Given the description of an element on the screen output the (x, y) to click on. 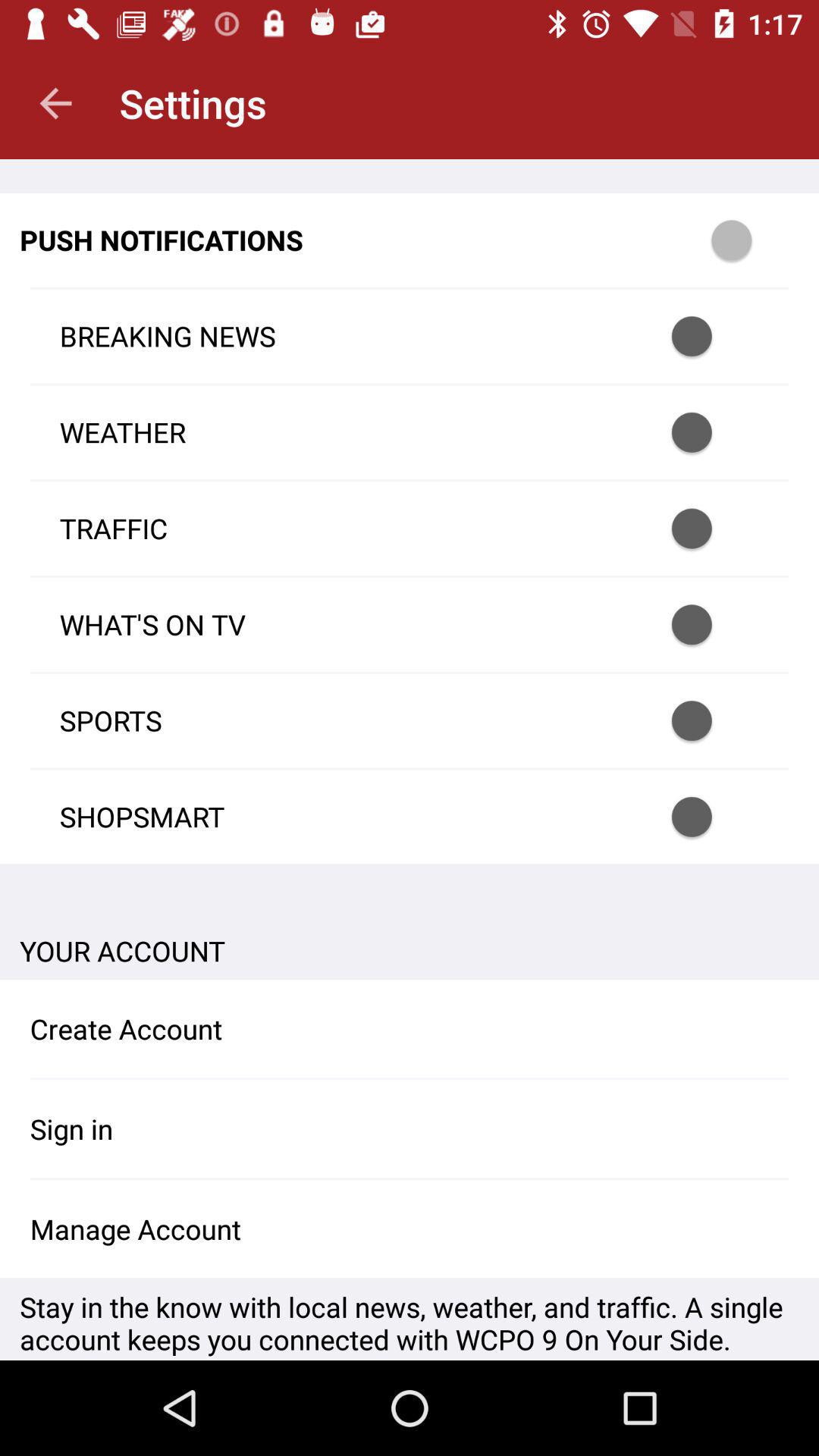
toggle shopsmart on (711, 816)
